Given the description of an element on the screen output the (x, y) to click on. 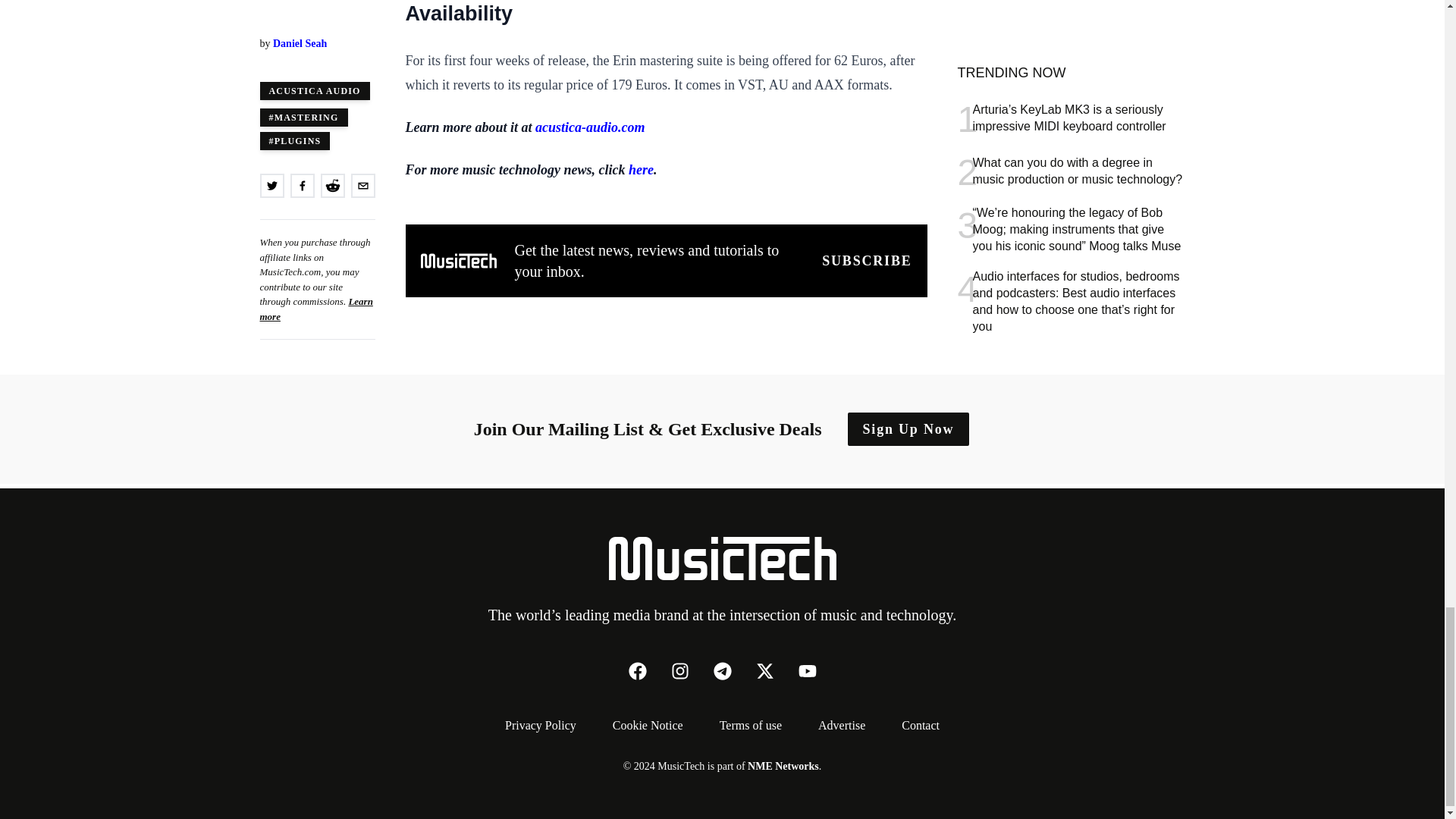
acustica-audio.com (590, 127)
here (640, 169)
SUBSCRIBE (866, 260)
Join our mailing list (866, 260)
